Given the description of an element on the screen output the (x, y) to click on. 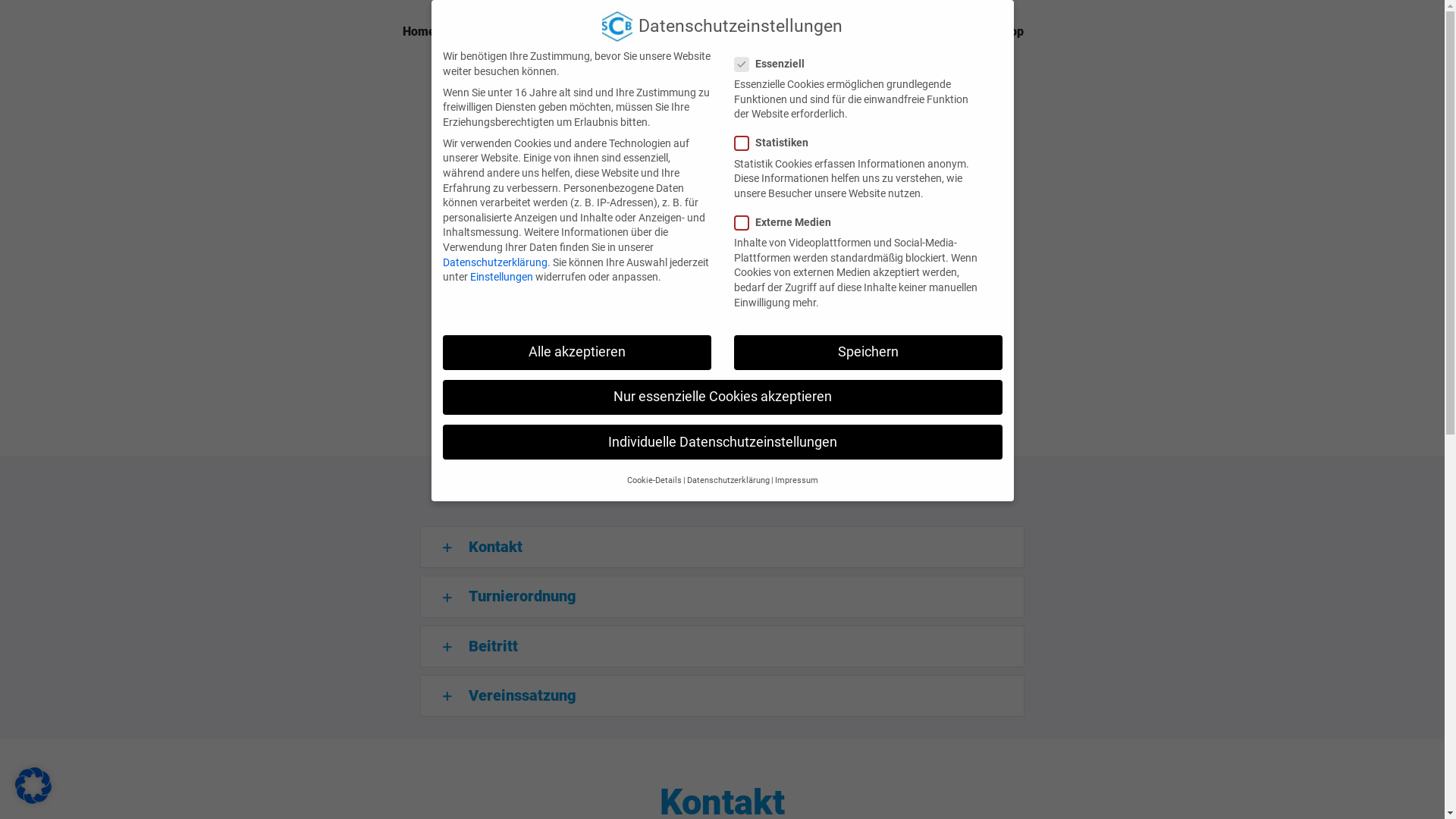
Speichern Element type: text (868, 352)
Impressum Element type: text (796, 480)
Individuelle Datenschutzeinstellungen Element type: text (722, 441)
Liga Element type: text (630, 31)
Beitritt Element type: text (721, 646)
Meisterschaften Element type: text (554, 31)
Shop Element type: text (1008, 31)
Turnierordnung Element type: text (721, 596)
Kontakt Element type: text (721, 547)
Kooperationen Element type: text (934, 31)
Infos Element type: text (861, 31)
Cookie-Details Element type: text (653, 480)
Einstellungen Element type: text (501, 276)
Verein Element type: text (471, 31)
Vereinssatzung Element type: text (721, 695)
Alle akzeptieren Element type: text (576, 352)
Nur essenzielle Cookies akzeptieren Element type: text (722, 396)
Home Element type: text (417, 31)
